Given the description of an element on the screen output the (x, y) to click on. 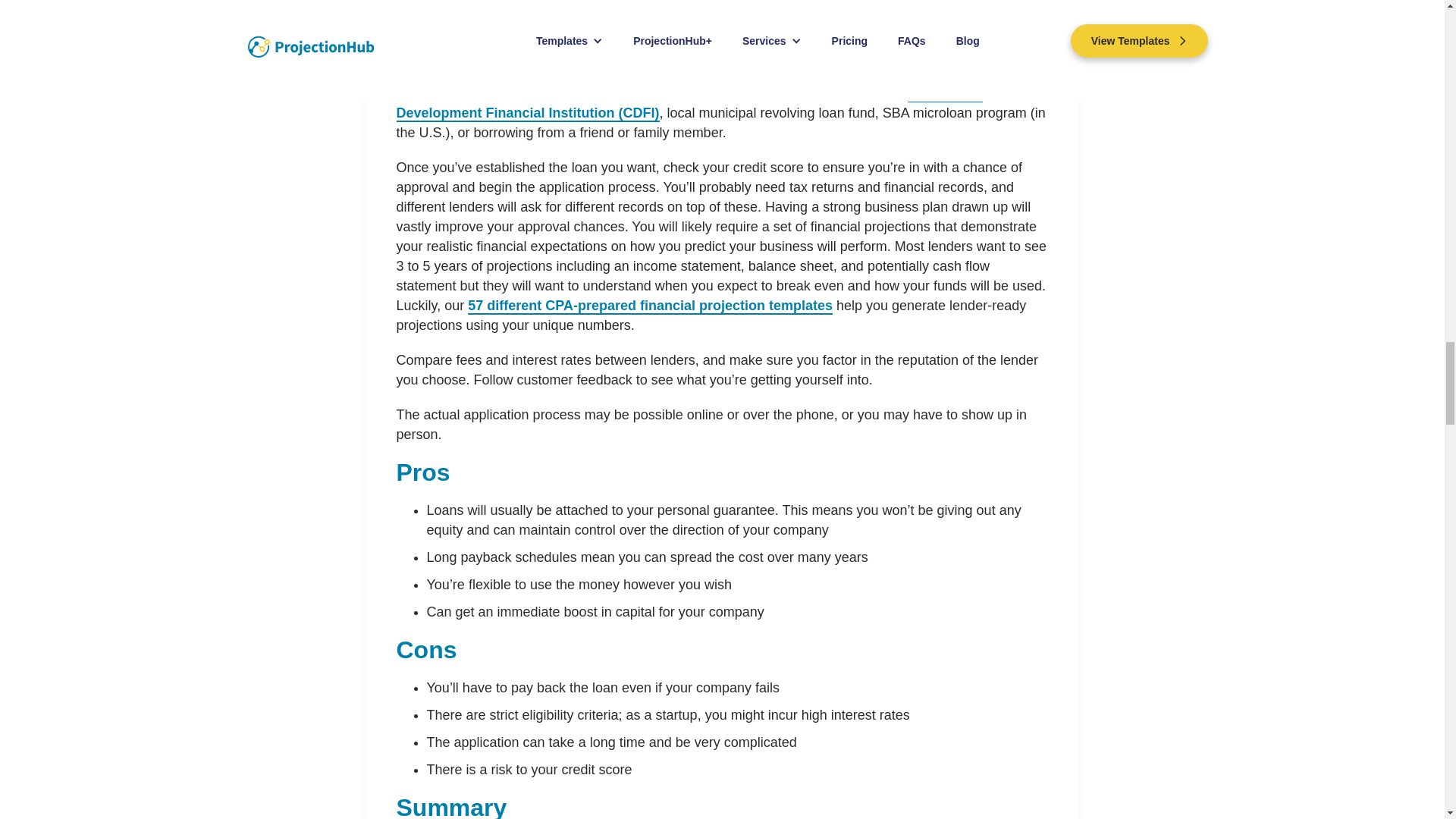
57 different CPA-prepared financial projection templates (649, 306)
